Given the description of an element on the screen output the (x, y) to click on. 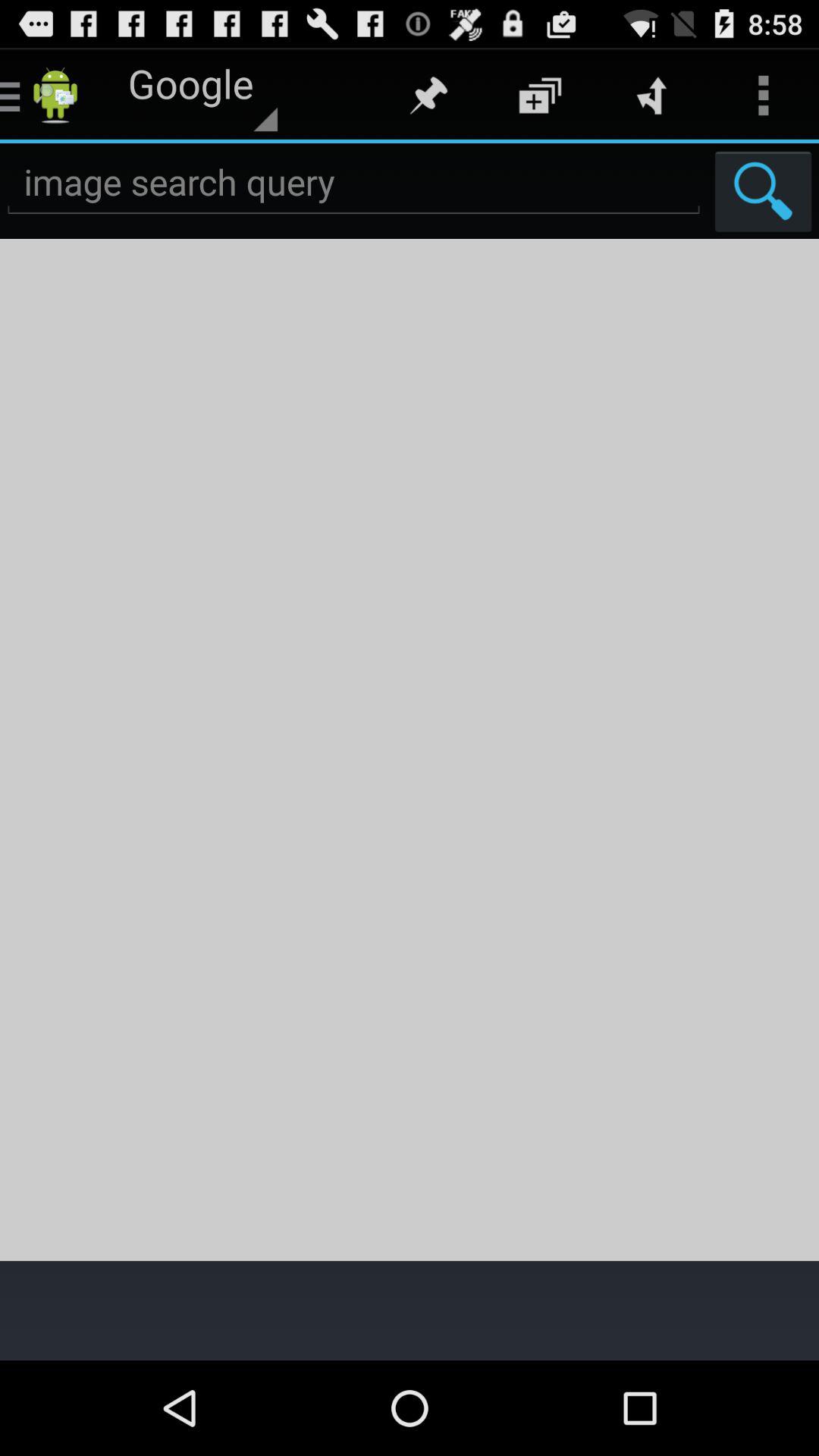
description (409, 749)
